Given the description of an element on the screen output the (x, y) to click on. 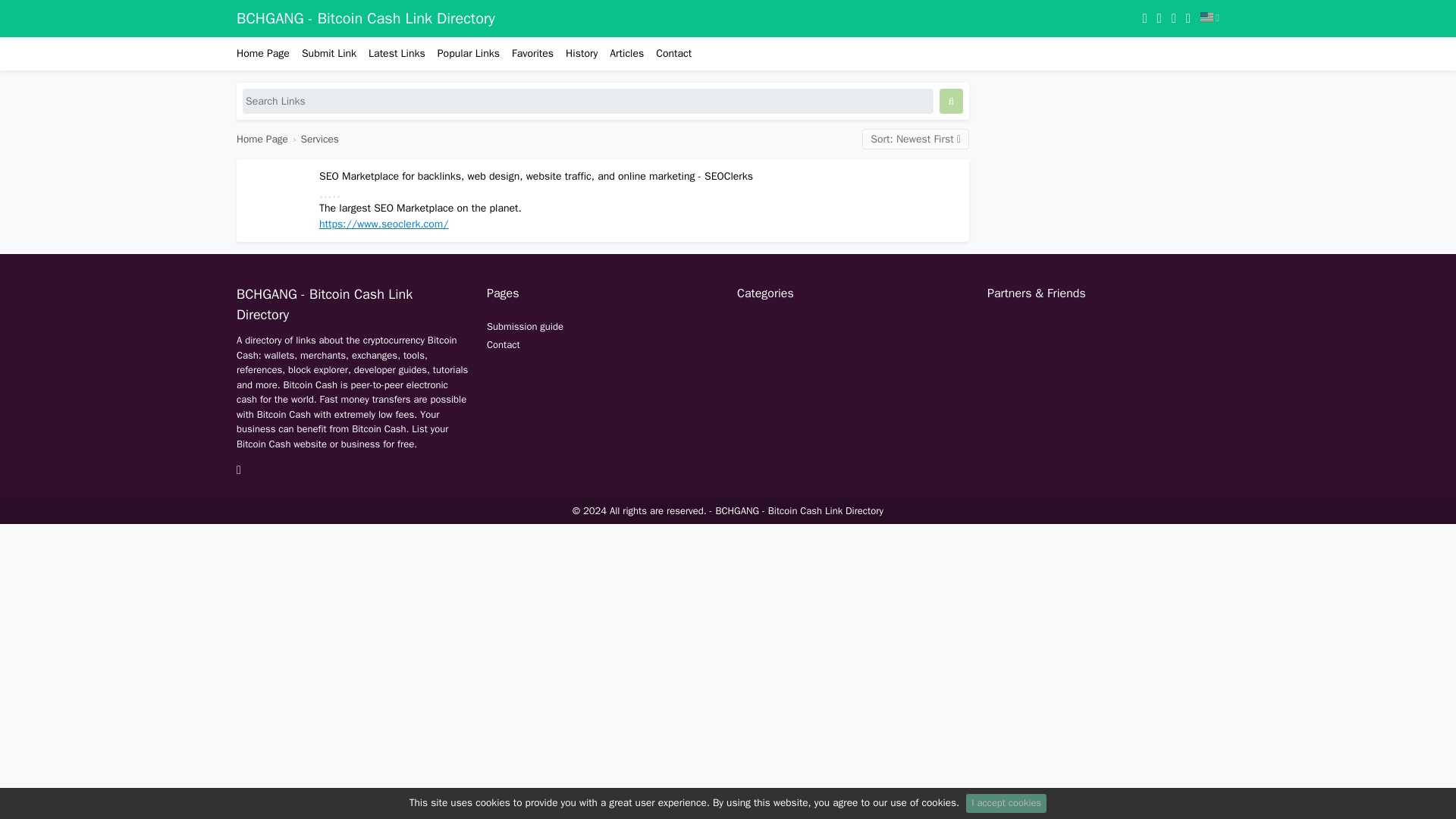
Home Page (261, 138)
Articles (626, 53)
Submit Link (328, 53)
Submission guide (524, 326)
Favorites (532, 53)
Sort: Newest First (915, 138)
History (581, 53)
Home Page (265, 53)
Contact (502, 344)
Popular Links (467, 53)
